Given the description of an element on the screen output the (x, y) to click on. 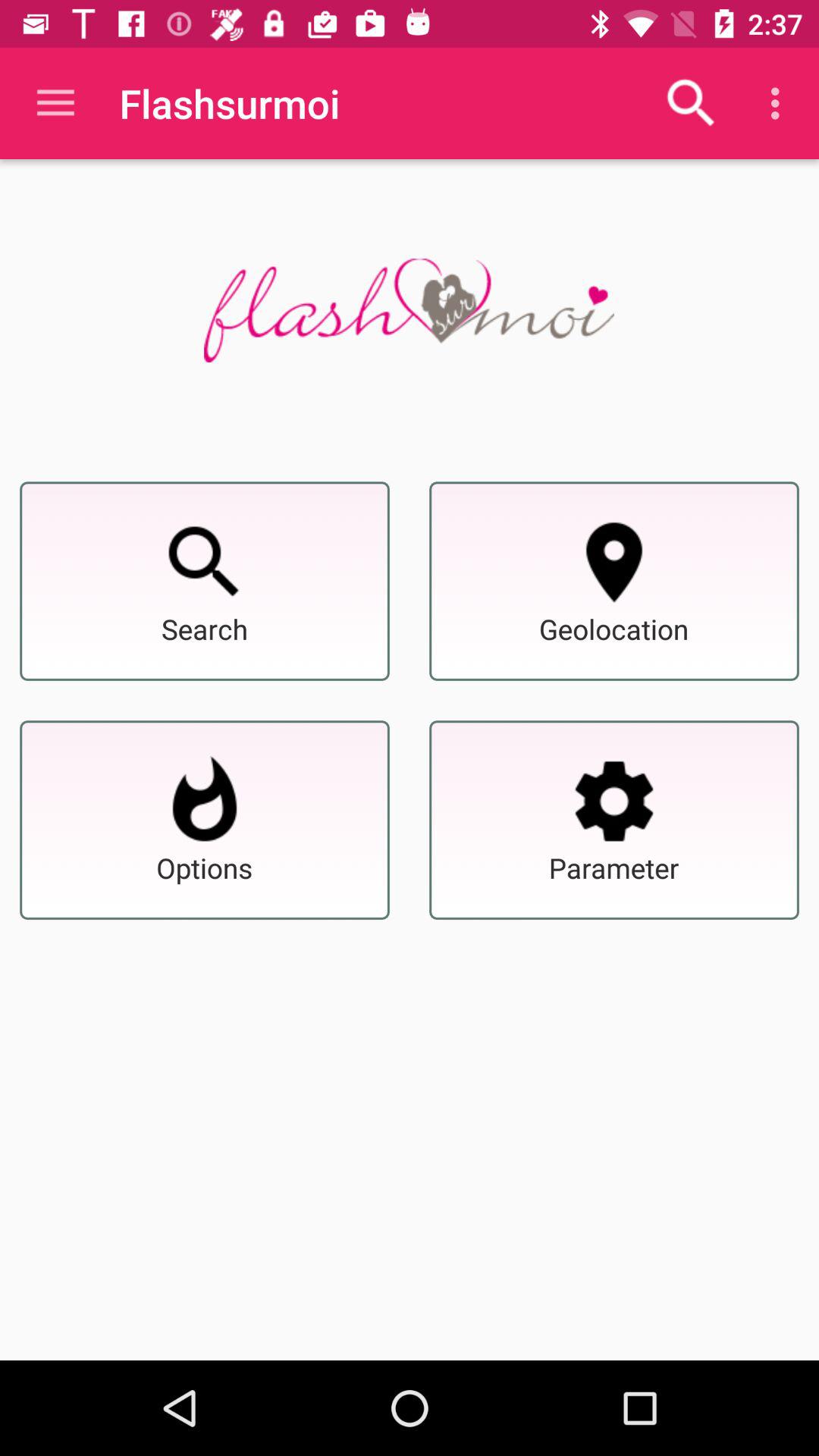
options icon (204, 801)
